Given the description of an element on the screen output the (x, y) to click on. 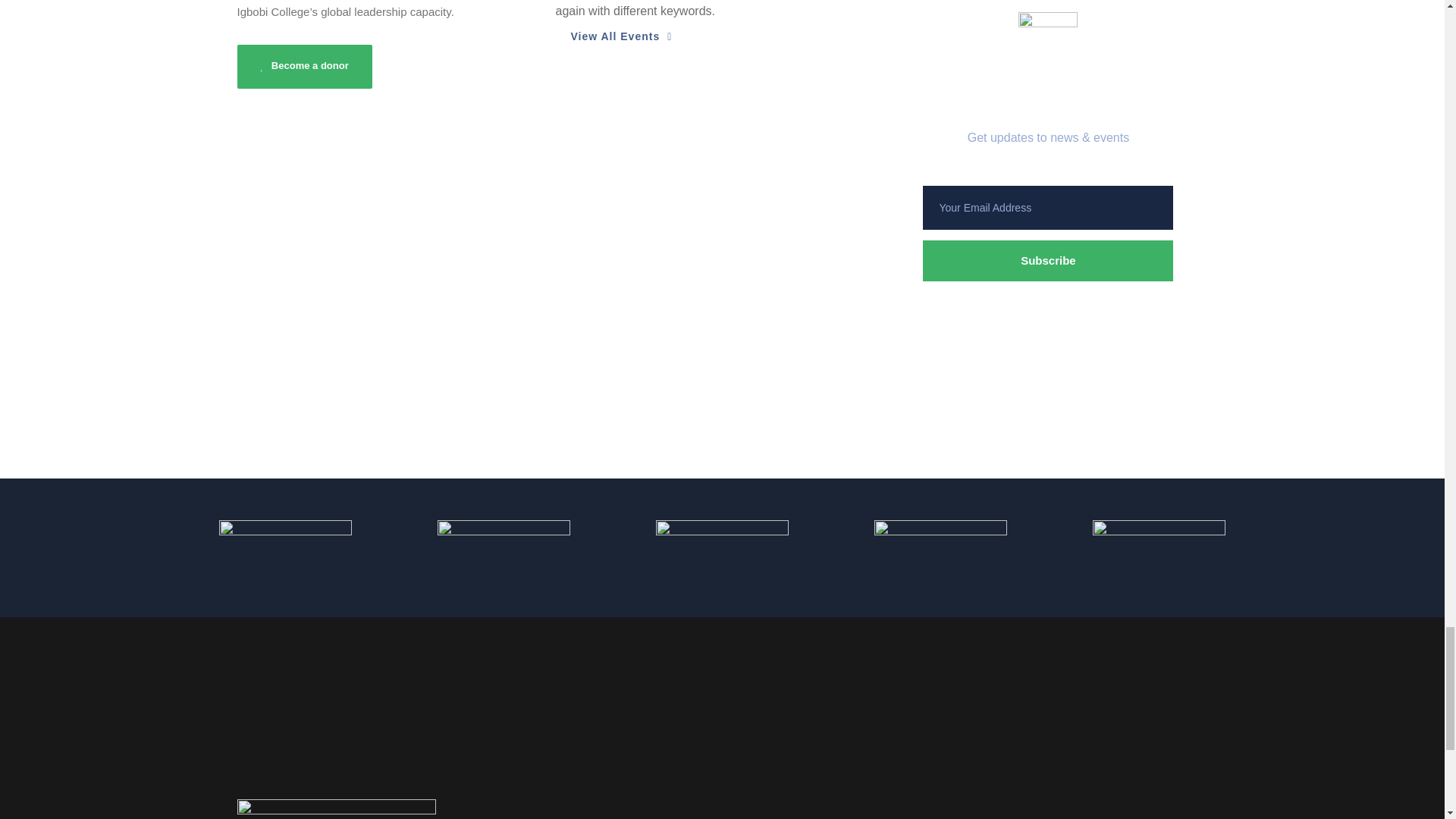
methodst (504, 545)
icon-envelope (1047, 34)
slider4 (941, 545)
slider1 (285, 545)
Subscribe (1048, 260)
slider3 (722, 545)
